Given the description of an element on the screen output the (x, y) to click on. 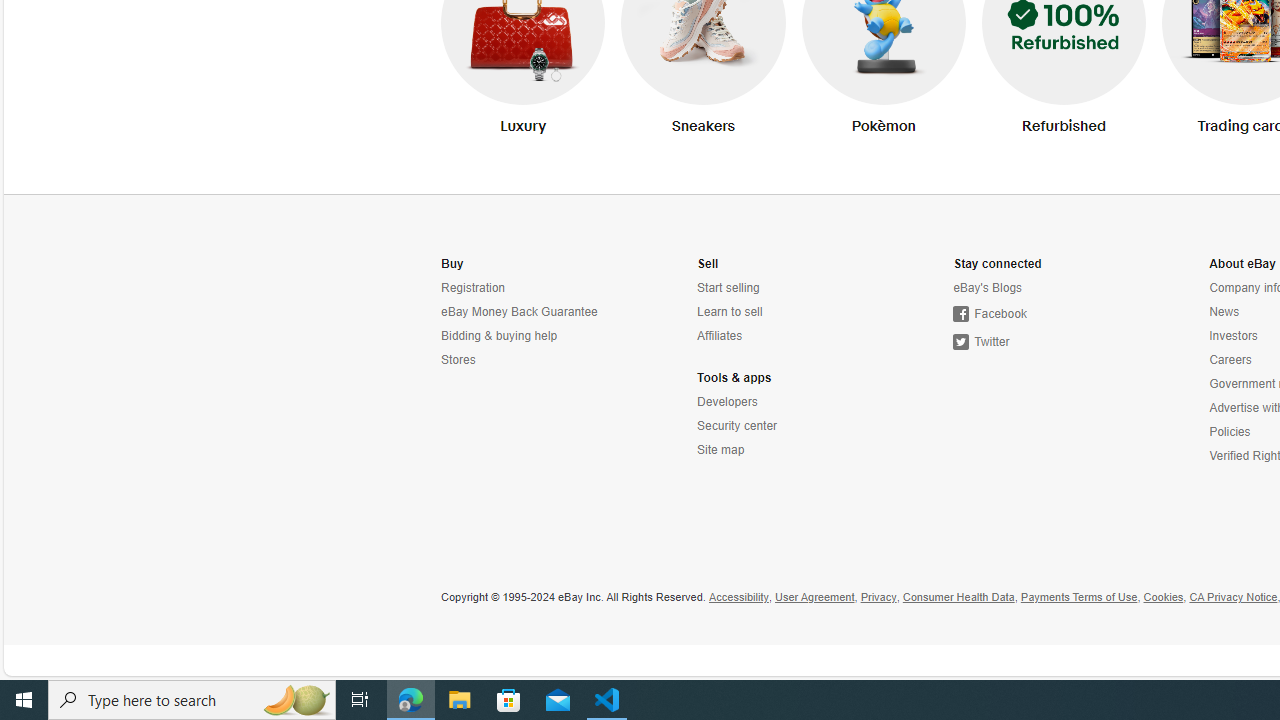
Stores (529, 360)
Security center (786, 425)
Bidding & buying help (529, 335)
Start selling (728, 288)
Developers (727, 402)
Buy (452, 263)
Facebook (989, 314)
Twitter (1042, 342)
Registration (473, 288)
Registration (529, 288)
Accessibility (738, 597)
Investors (1233, 335)
Affiliates (786, 335)
